Given the description of an element on the screen output the (x, y) to click on. 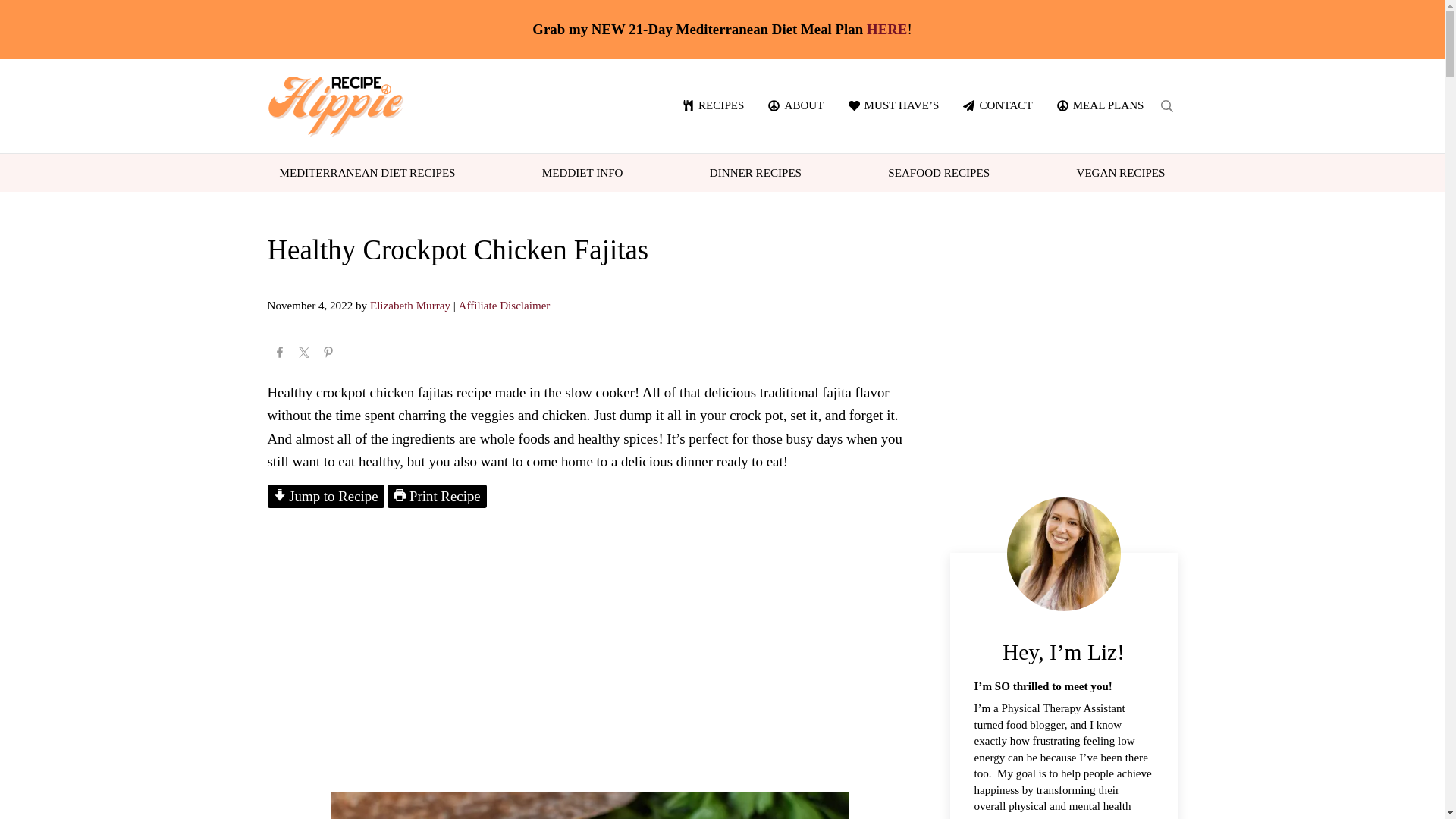
MEAL PLANS (1100, 105)
Affiliate Disclaimer (504, 305)
MEDITERRANEAN DIET RECIPES (366, 171)
ABOUT (795, 105)
HERE (886, 28)
Elizabeth Murray (409, 305)
MEDDIET INFO (581, 171)
DINNER RECIPES (755, 171)
Share on Pinterest (327, 354)
Share on Facebook (278, 354)
SEAFOOD RECIPES (938, 171)
Jump to Recipe (325, 495)
CONTACT (996, 105)
Share on Twitter (303, 354)
